Given the description of an element on the screen output the (x, y) to click on. 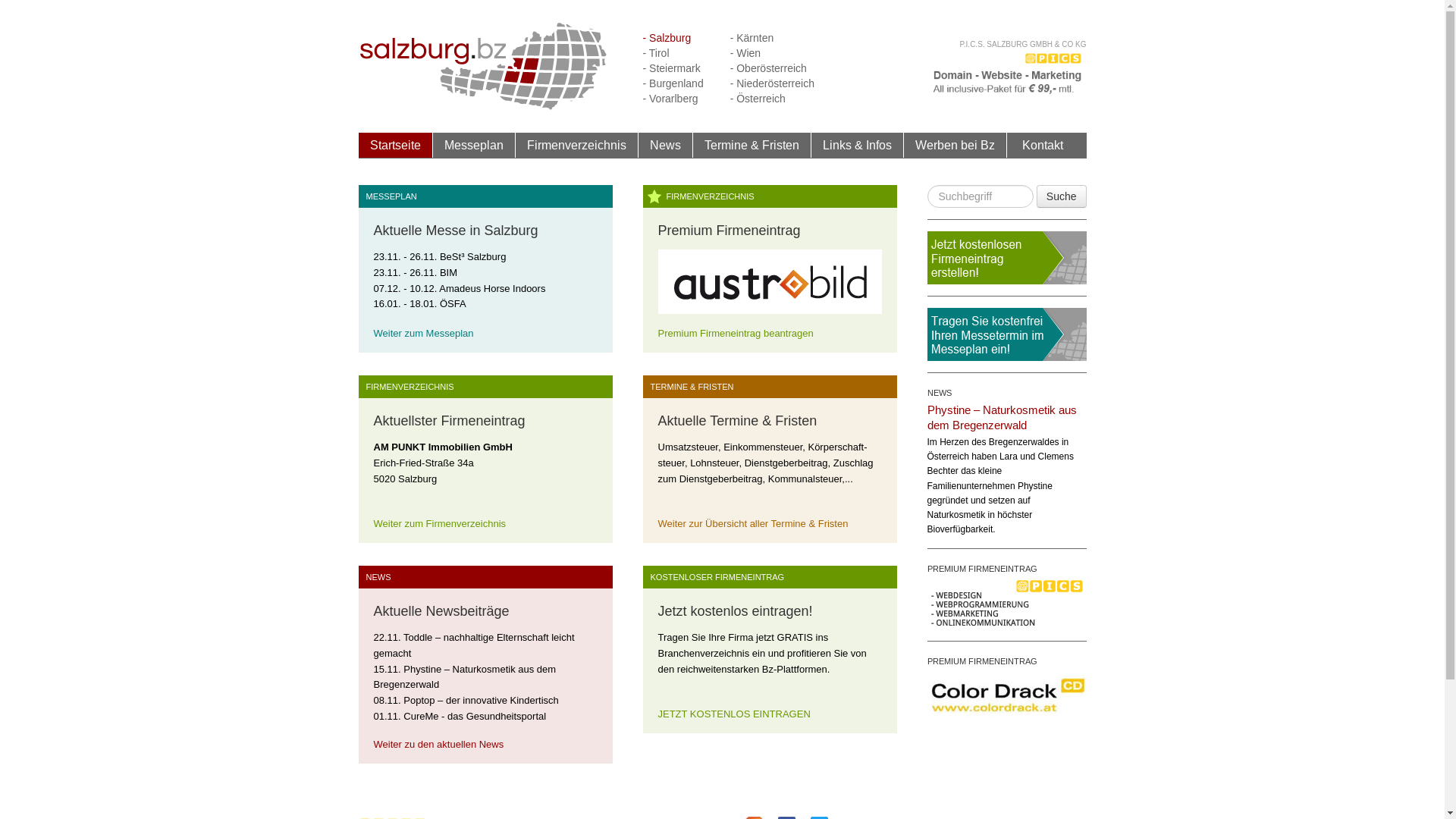
AustroBild.at -  Element type: hover (769, 286)
News Element type: text (664, 144)
NEWS Element type: text (938, 392)
- Vorarlberg Element type: text (670, 98)
Bundesland.bz - Firmeneintrag gratis Element type: hover (1005, 257)
PREMIUM FIRMENEINTRAG Element type: text (981, 568)
Werben bei Bz Element type: text (954, 144)
Messeplan Element type: text (473, 144)
Termine & Fristen Element type: text (750, 144)
- Salzburg Element type: text (667, 37)
Termine & Fristen Element type: text (752, 144)
News Element type: text (665, 144)
Links & Infos Element type: text (857, 144)
Amadeus Horse Indoors Element type: text (492, 293)
KOSTENLOSER FIRMENEINTRAG Element type: text (713, 576)
Startseite Element type: text (395, 144)
P.I.C.S. SALZBURG GMBH & CO KG Element type: text (1022, 44)
Firmenverzeichnis Element type: text (575, 144)
MESSEPLAN Element type: text (386, 195)
Links & Infos Element type: text (856, 144)
- Burgenland Element type: text (673, 83)
Firmenverzeichnis Element type: text (576, 144)
NEWS Element type: text (373, 576)
Messeplan Element type: text (473, 144)
FIRMENVERZEICHNIS Element type: text (405, 386)
Premium Firmeneintrag beantragen Element type: text (735, 332)
Zur Startseite von Salzburg.bz Element type: hover (483, 65)
P.I.C.S. Salzburg GmbH & Co KG  Element type: hover (1005, 72)
- Tirol Element type: text (656, 53)
- Steiermark Element type: text (671, 68)
Weiter zu den aktuellen News Element type: text (438, 743)
Suche Element type: text (1061, 196)
Startseite Element type: text (394, 144)
Kontakt Element type: text (1042, 144)
JETZT KOSTENLOS EINTRAGEN Element type: text (734, 713)
PREMIUM FIRMENEINTRAG Element type: text (981, 660)
CureMe - das Gesundheitsportal Element type: text (474, 721)
BIM Element type: text (448, 277)
- Wien Element type: text (745, 53)
Weiter zum Messeplan Element type: text (423, 332)
TERMINE & FRISTEN Element type: text (688, 386)
FIRMENVERZEICHNIS Element type: text (705, 195)
Werben bei Bz Element type: text (955, 144)
Weiter zum Firmenverzeichnis Element type: text (439, 523)
Bundesland.bz - Messeeintrag gratis Element type: hover (1005, 333)
Kontakt Element type: text (1042, 144)
